Given the description of an element on the screen output the (x, y) to click on. 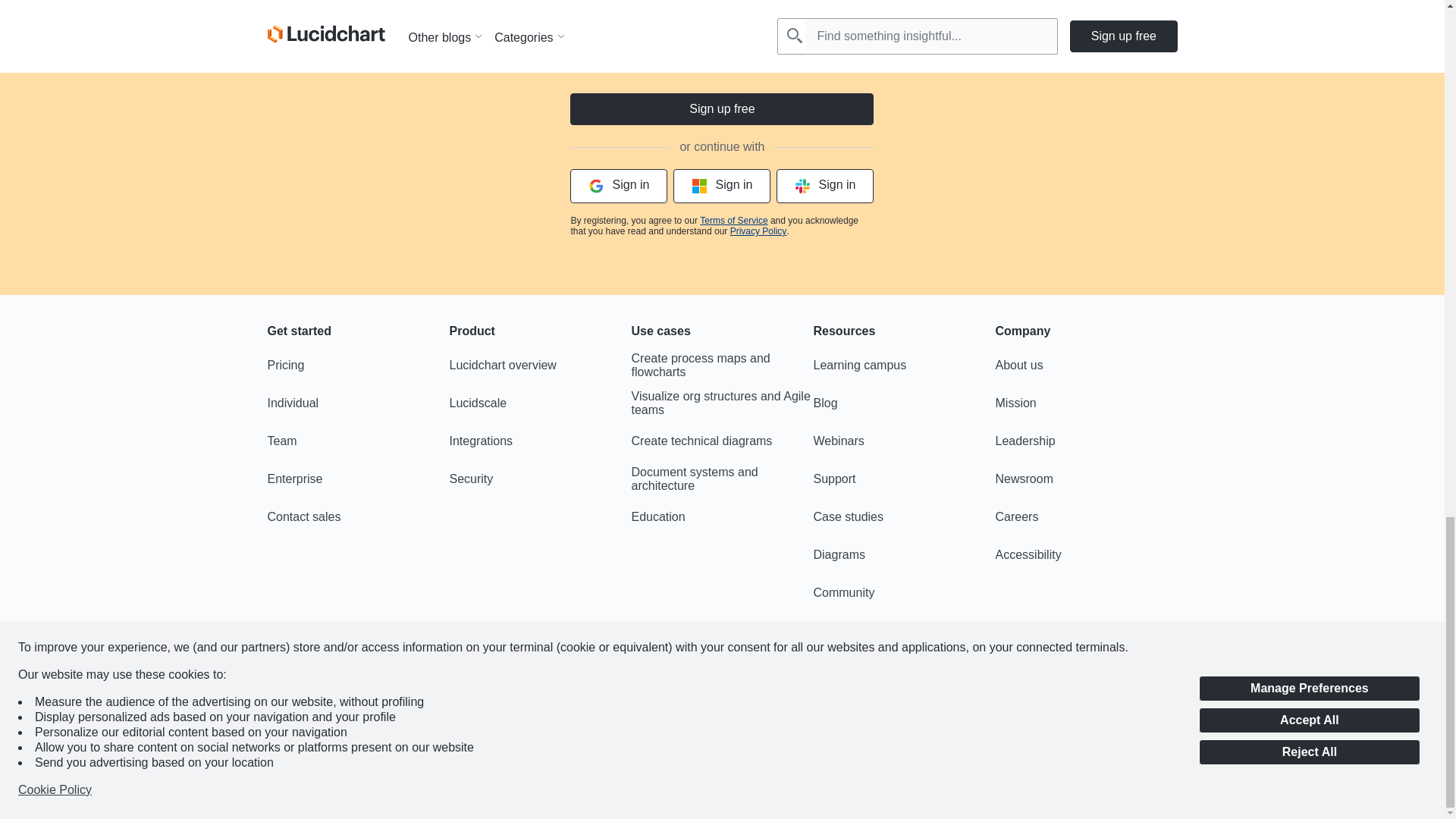
Sign up free (721, 109)
Terms of Service (733, 220)
Sign in (824, 185)
Sign in (618, 185)
Sign in (721, 185)
